Given the description of an element on the screen output the (x, y) to click on. 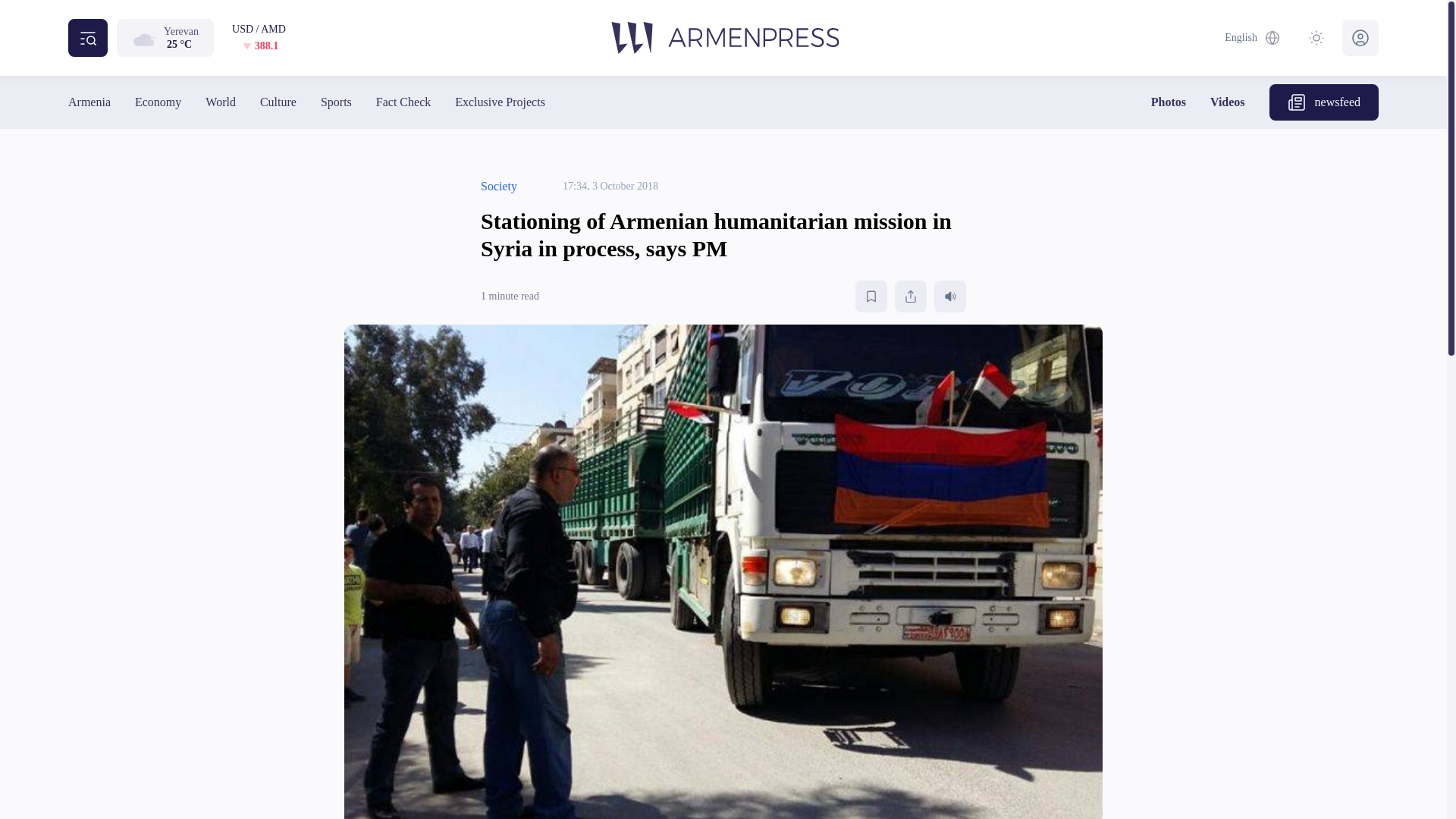
Society (498, 186)
Sports (336, 102)
World (220, 102)
Photos (1168, 102)
English (1252, 37)
Fact Check (402, 102)
Culture (278, 102)
newsfeed (1323, 102)
Videos (1226, 102)
Exclusive Projects (499, 102)
Armenia (89, 102)
Economy (157, 102)
